Given the description of an element on the screen output the (x, y) to click on. 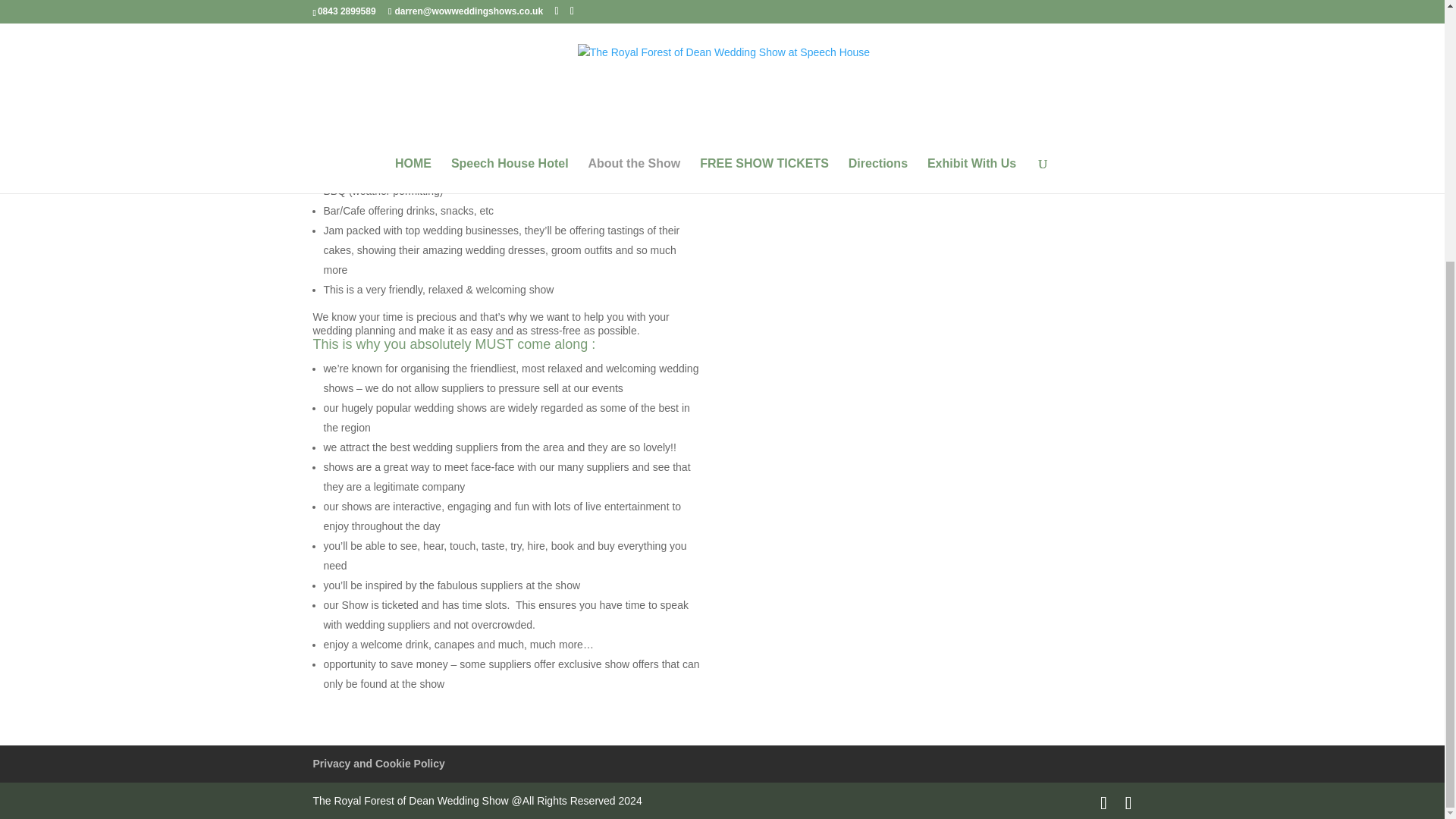
dresses (506, 31)
Privacy and Cookie Policy (378, 763)
Submit (765, 64)
